Given the description of an element on the screen output the (x, y) to click on. 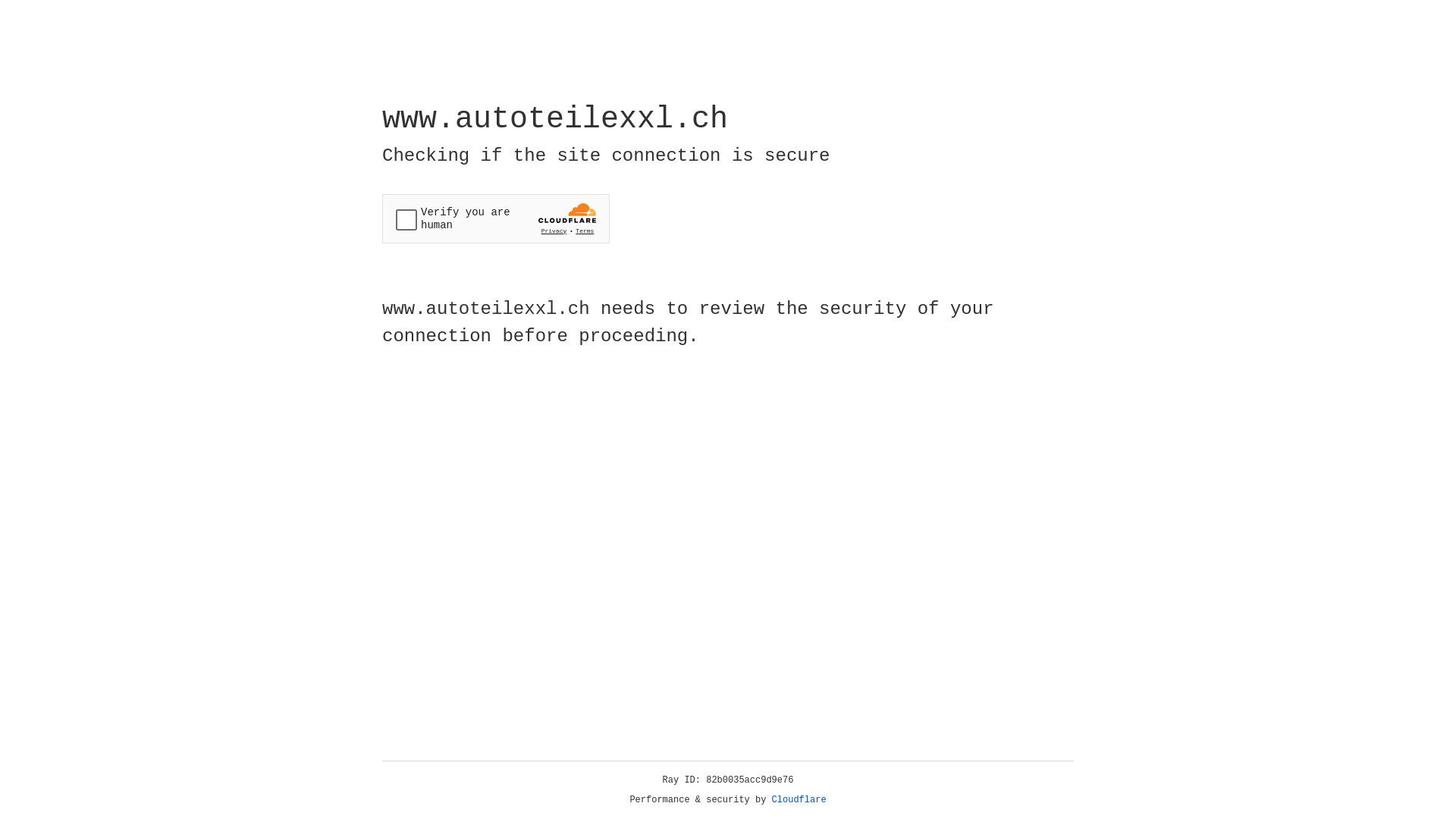
Cloudflare Element type: text (798, 799)
Widget containing a Cloudflare security challenge Element type: hover (495, 218)
